Given the description of an element on the screen output the (x, y) to click on. 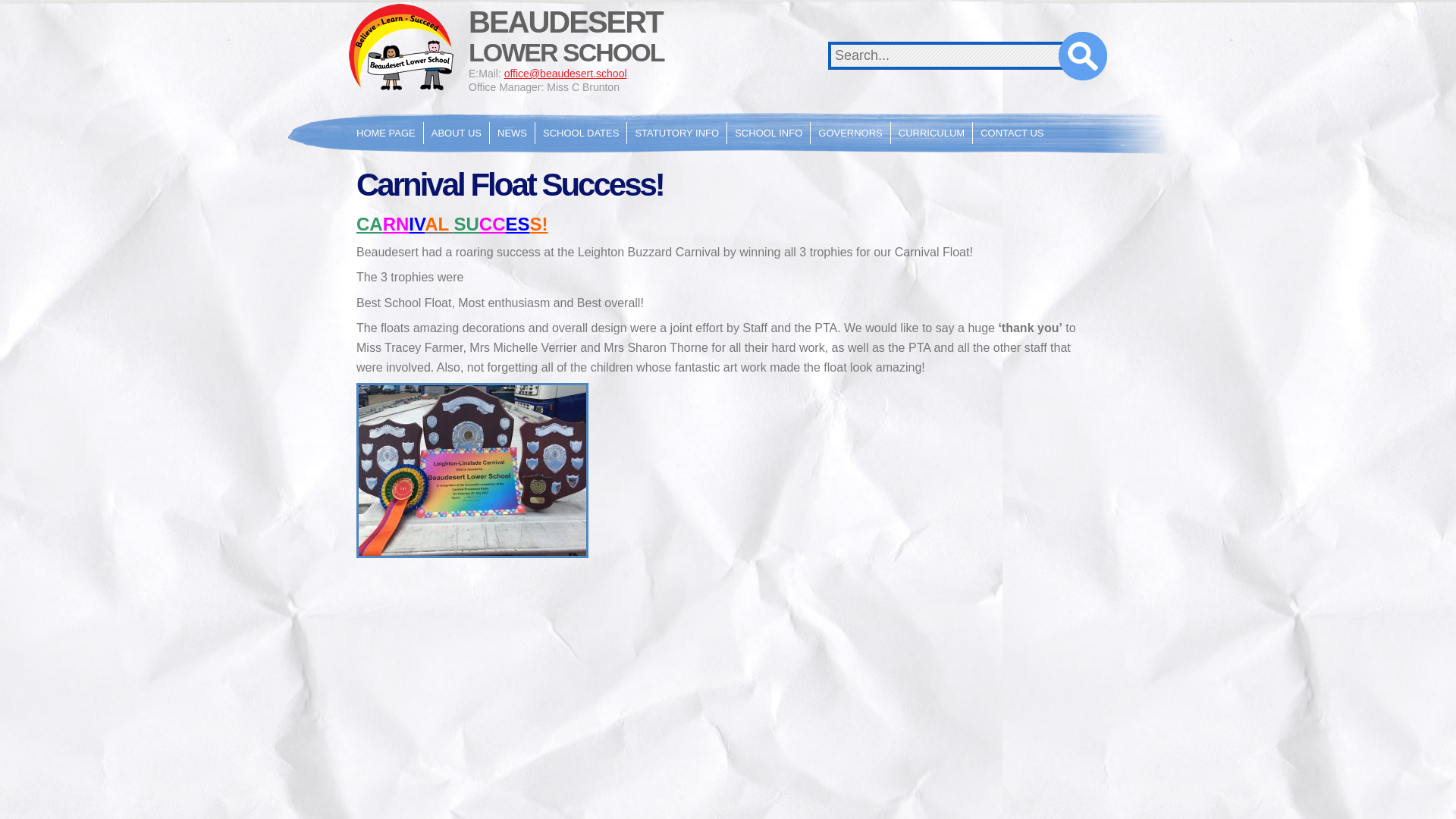
STATUTORY INFO (676, 133)
NEWS (511, 133)
HOME PAGE (386, 133)
SCHOOL INFO (767, 133)
SCHOOL DATES (580, 133)
ABOUT US (456, 133)
